Given the description of an element on the screen output the (x, y) to click on. 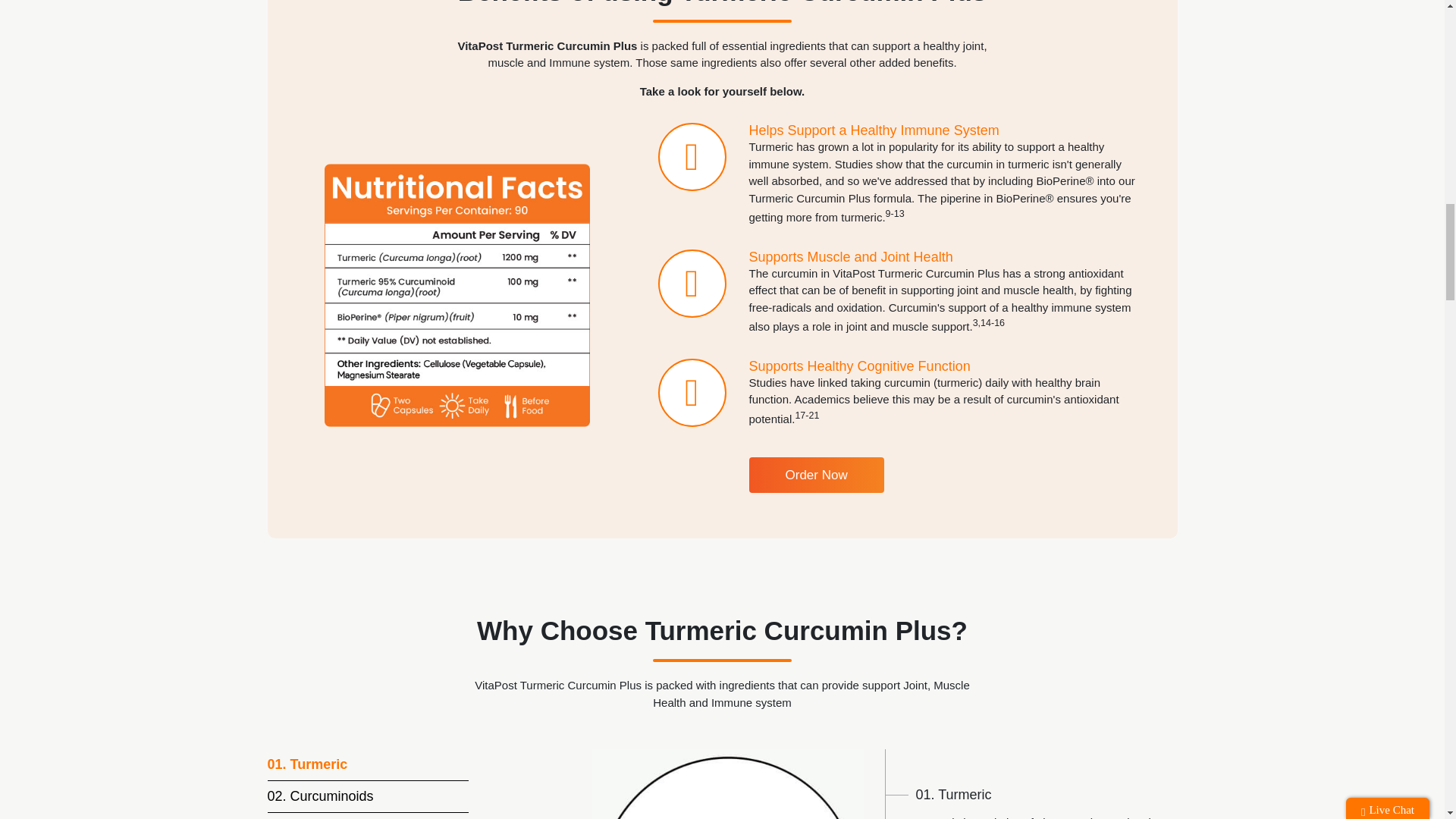
Order Now (816, 474)
